Given the description of an element on the screen output the (x, y) to click on. 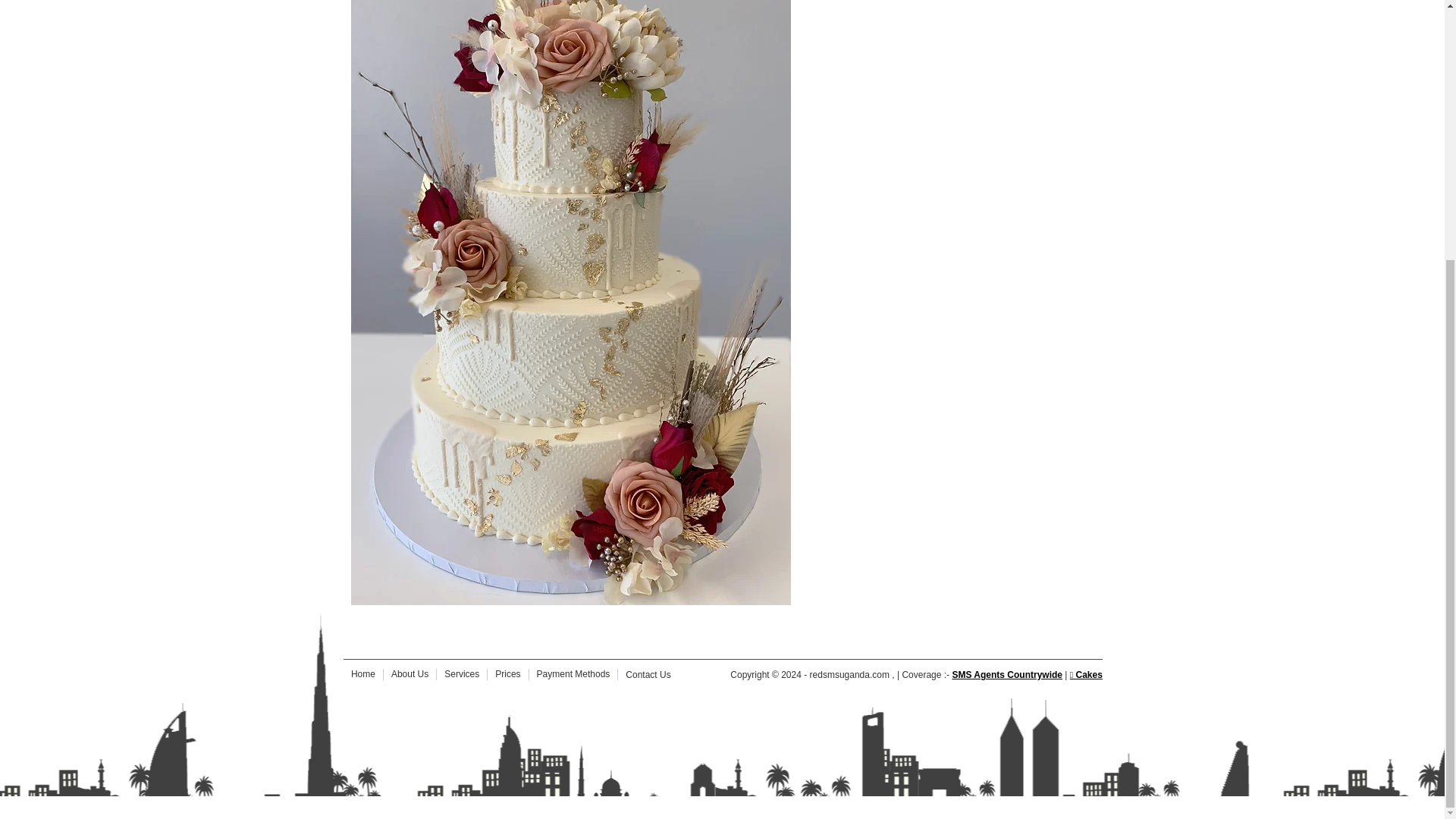
Home (362, 674)
SMS Agents Countrywide (1007, 674)
Bulk SMS Agents Uganda (1007, 674)
About Us (409, 674)
Wedding Cakes, Birthday Cakes Agents Uganda Bakes by Pam (1086, 674)
Prices (507, 674)
Services (461, 674)
Payment Methods (573, 674)
Contact Us (647, 674)
